Given the description of an element on the screen output the (x, y) to click on. 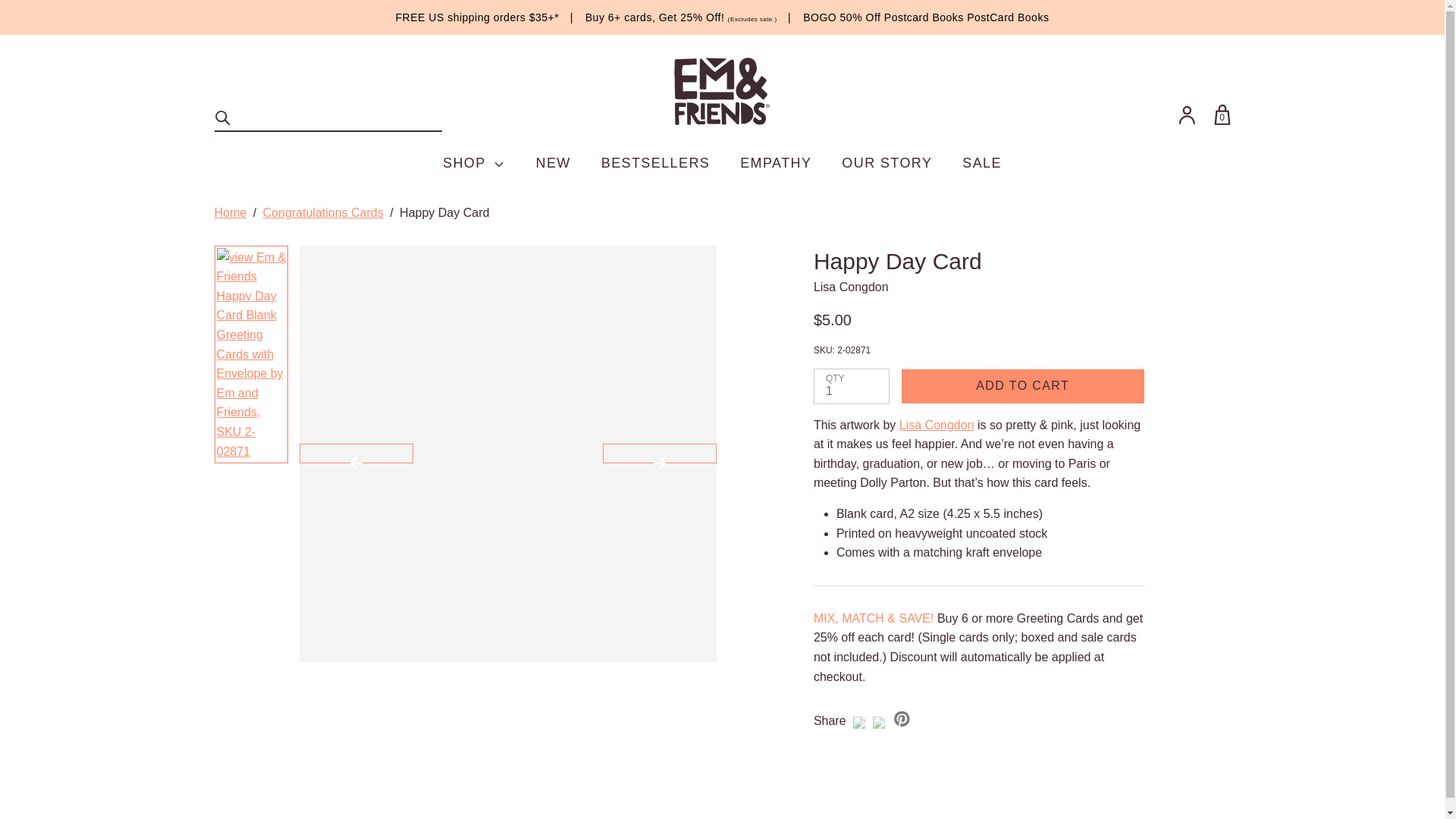
Search (222, 117)
Meet Lisa Congdon (936, 424)
SHOP (473, 163)
Home (230, 212)
